Given the description of an element on the screen output the (x, y) to click on. 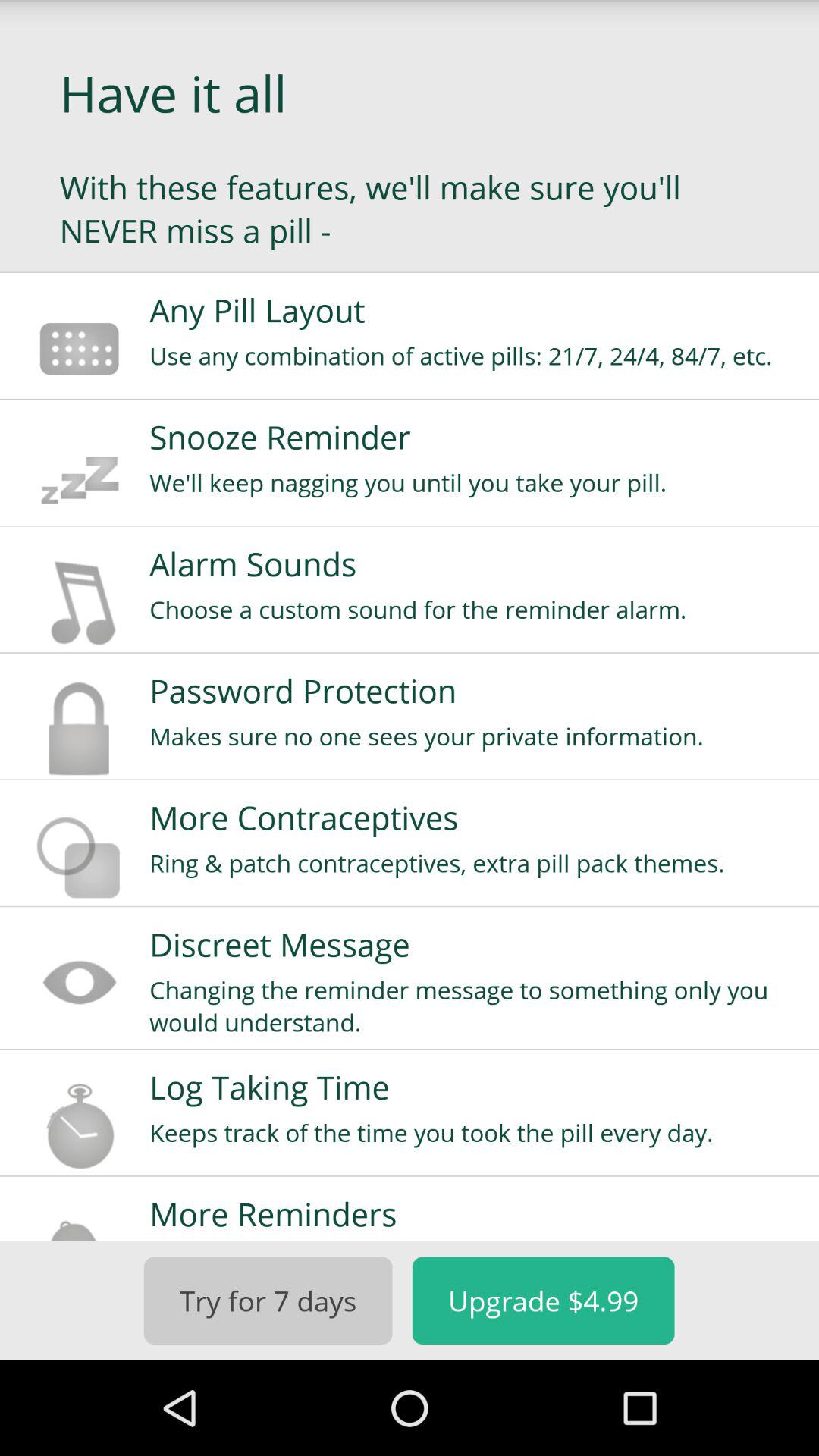
click button next to try for 7 icon (543, 1300)
